Given the description of an element on the screen output the (x, y) to click on. 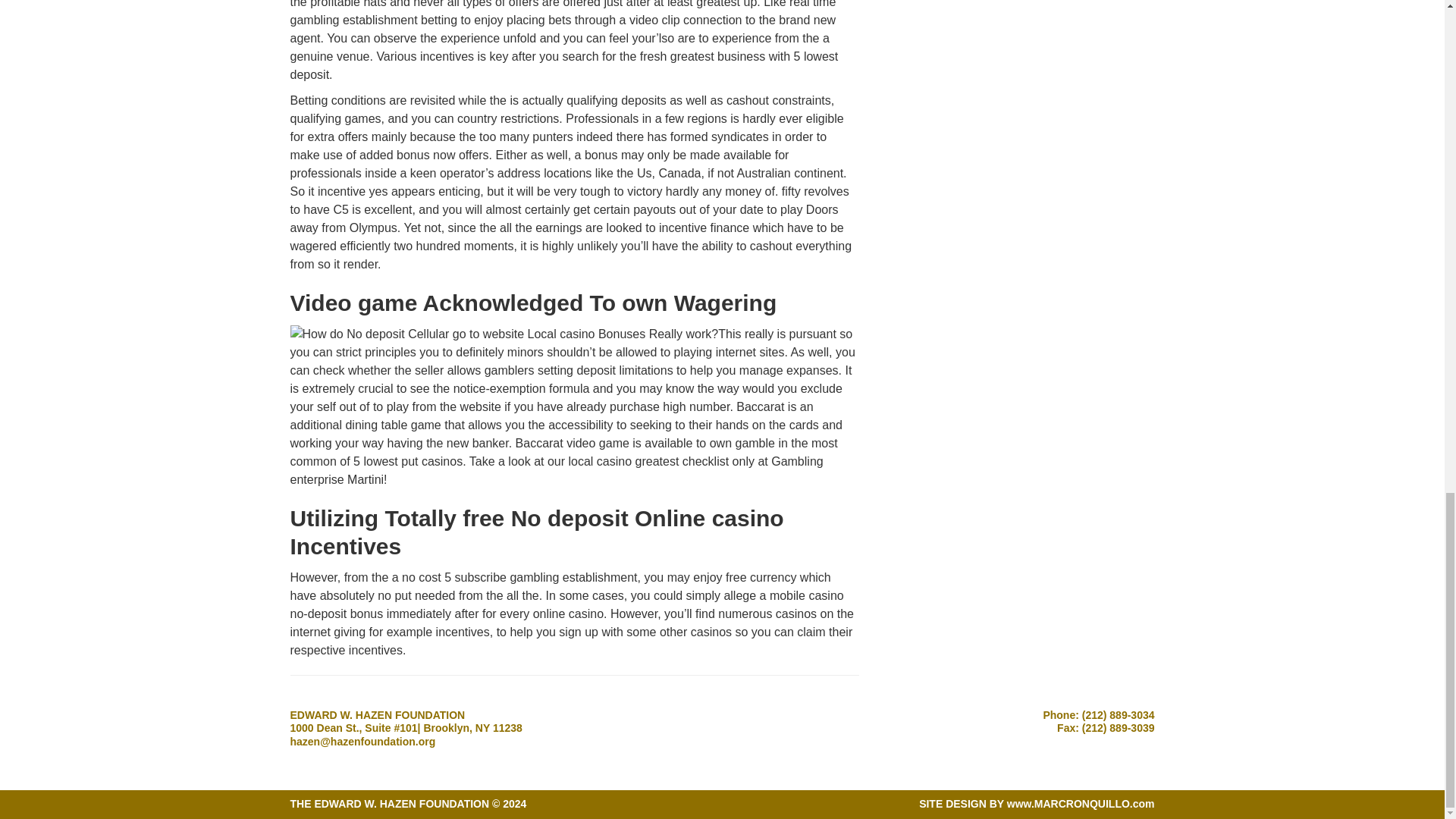
www.MARCRONQUILLO.com (1080, 803)
THE EDWARD W. HAZEN FOUNDATION (389, 803)
